Given the description of an element on the screen output the (x, y) to click on. 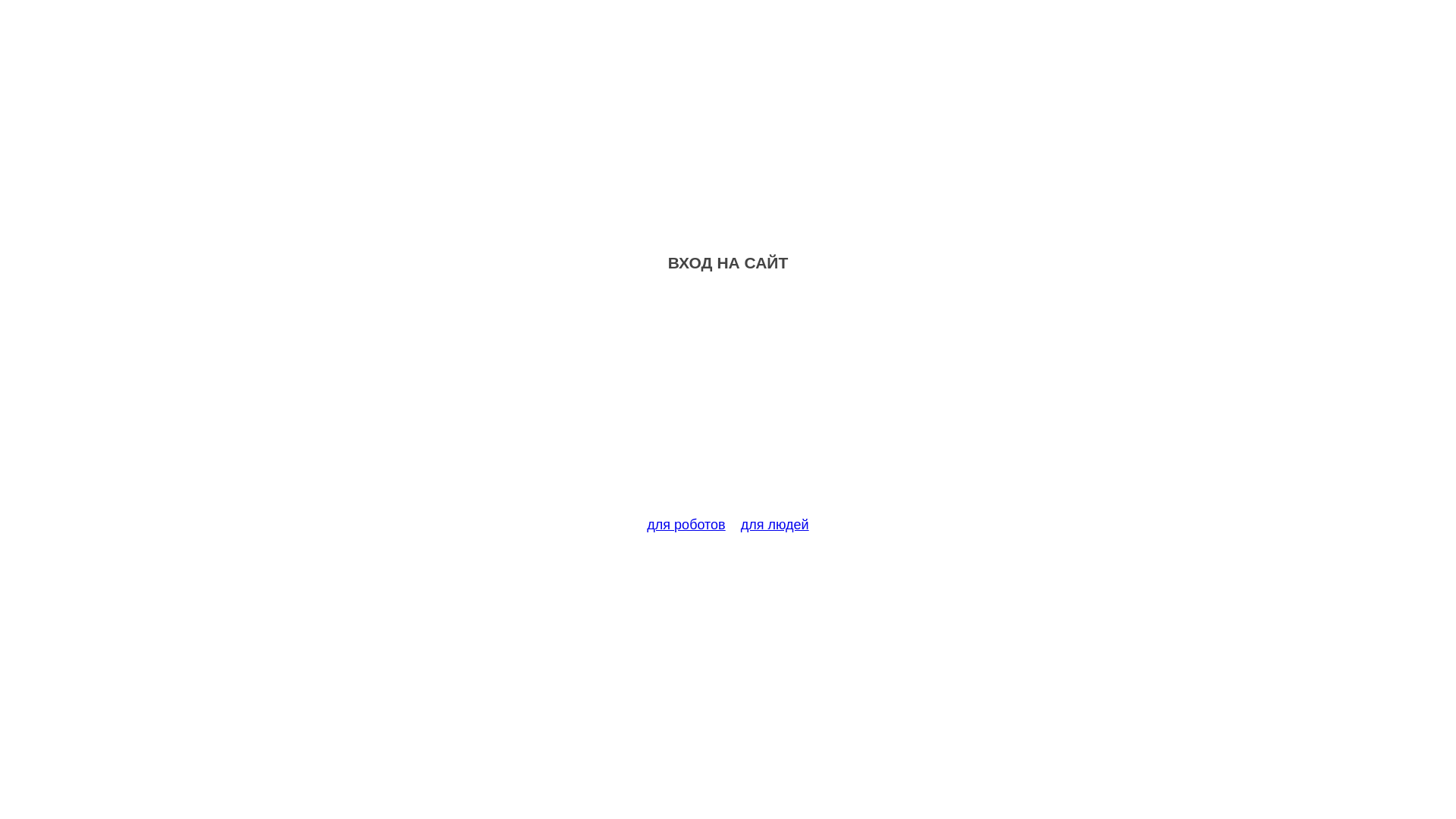
Advertisement Element type: hover (727, 403)
